Given the description of an element on the screen output the (x, y) to click on. 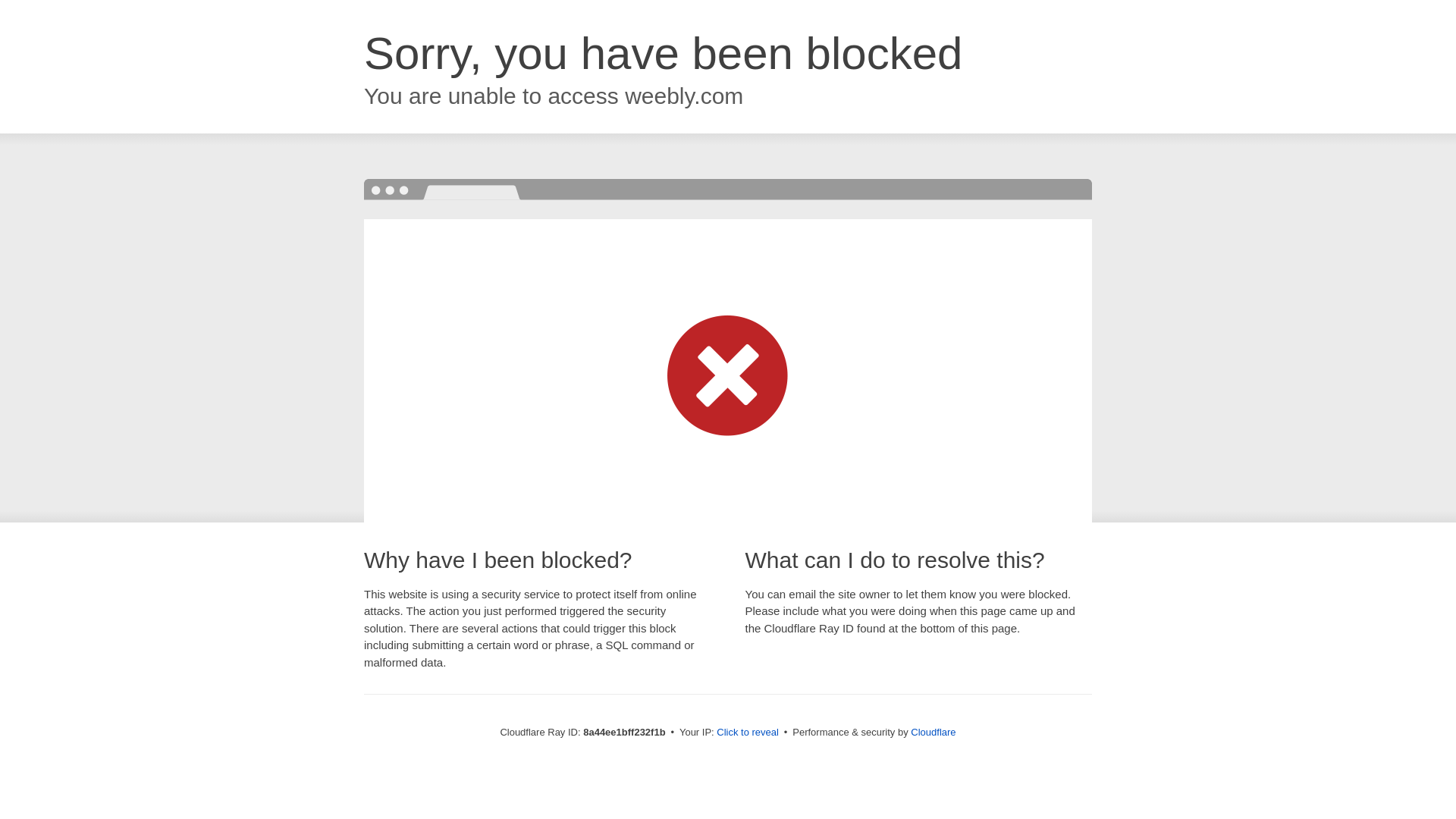
Cloudflare (933, 731)
Click to reveal (747, 732)
